Given the description of an element on the screen output the (x, y) to click on. 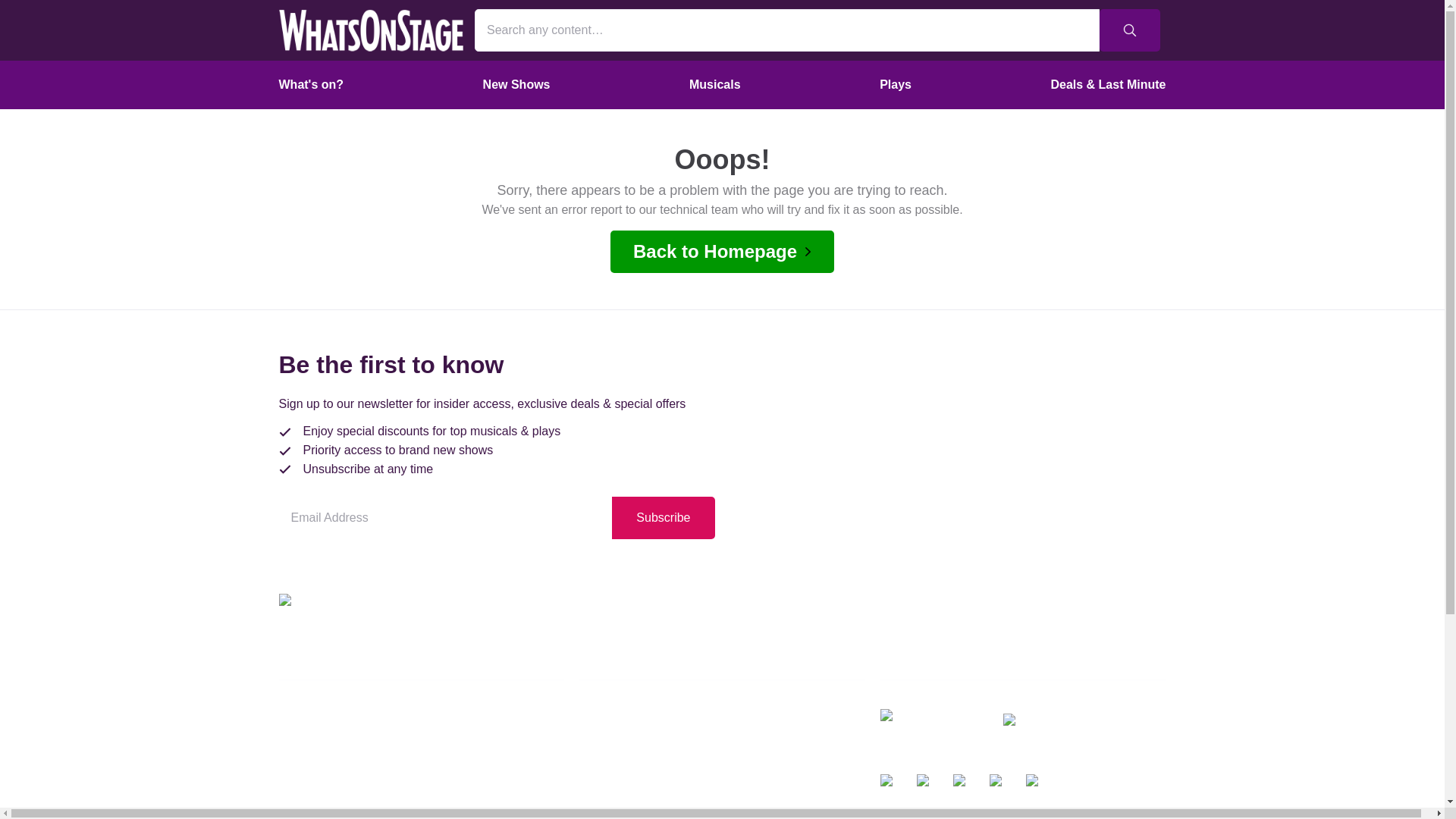
Find a show (421, 654)
Plays (895, 84)
What's on? (310, 84)
Subscribe (662, 517)
New Shows (516, 84)
Back to Homepage (722, 251)
Musicals (715, 84)
